Given the description of an element on the screen output the (x, y) to click on. 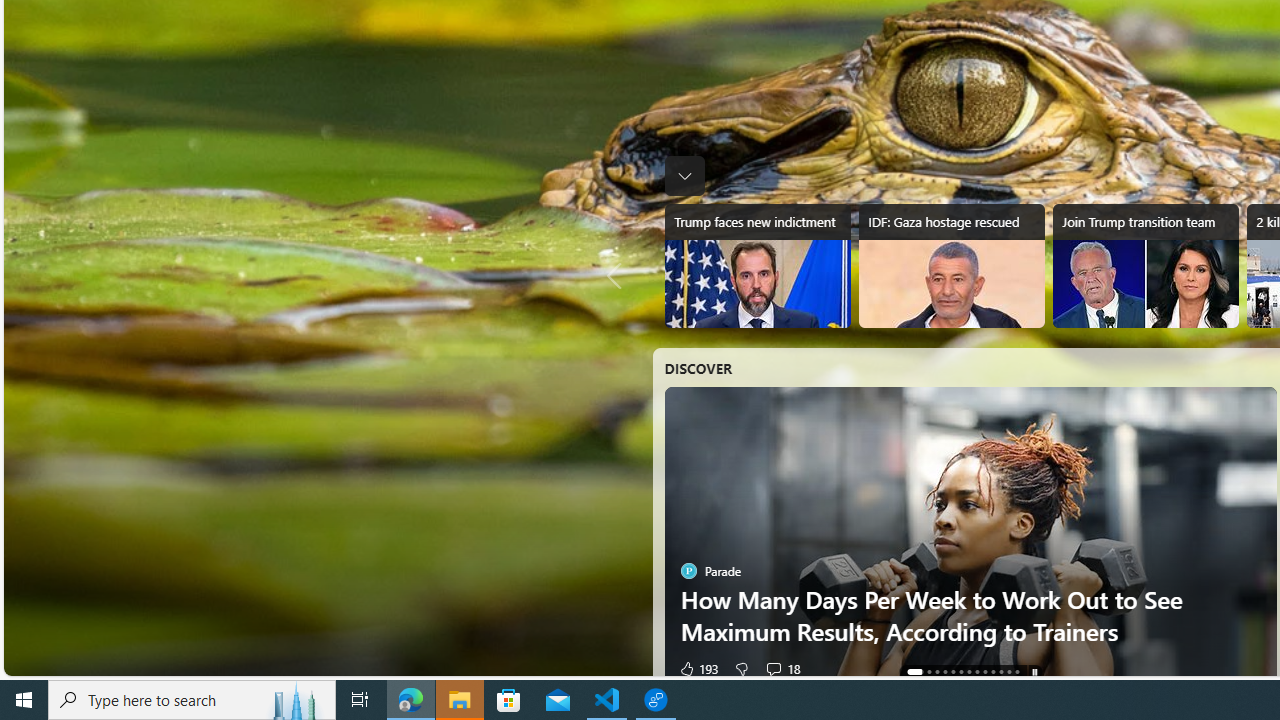
IDF: Gaza hostage rescued (950, 265)
Start the conversation (767, 668)
AutomationID: tab-11 (1008, 671)
Start the conversation (767, 668)
Trump faces new indictment (757, 265)
AutomationID: tab-1 (922, 671)
AutomationID: tab-0 (908, 671)
AutomationID: tab-10 (1000, 671)
